Given the description of an element on the screen output the (x, y) to click on. 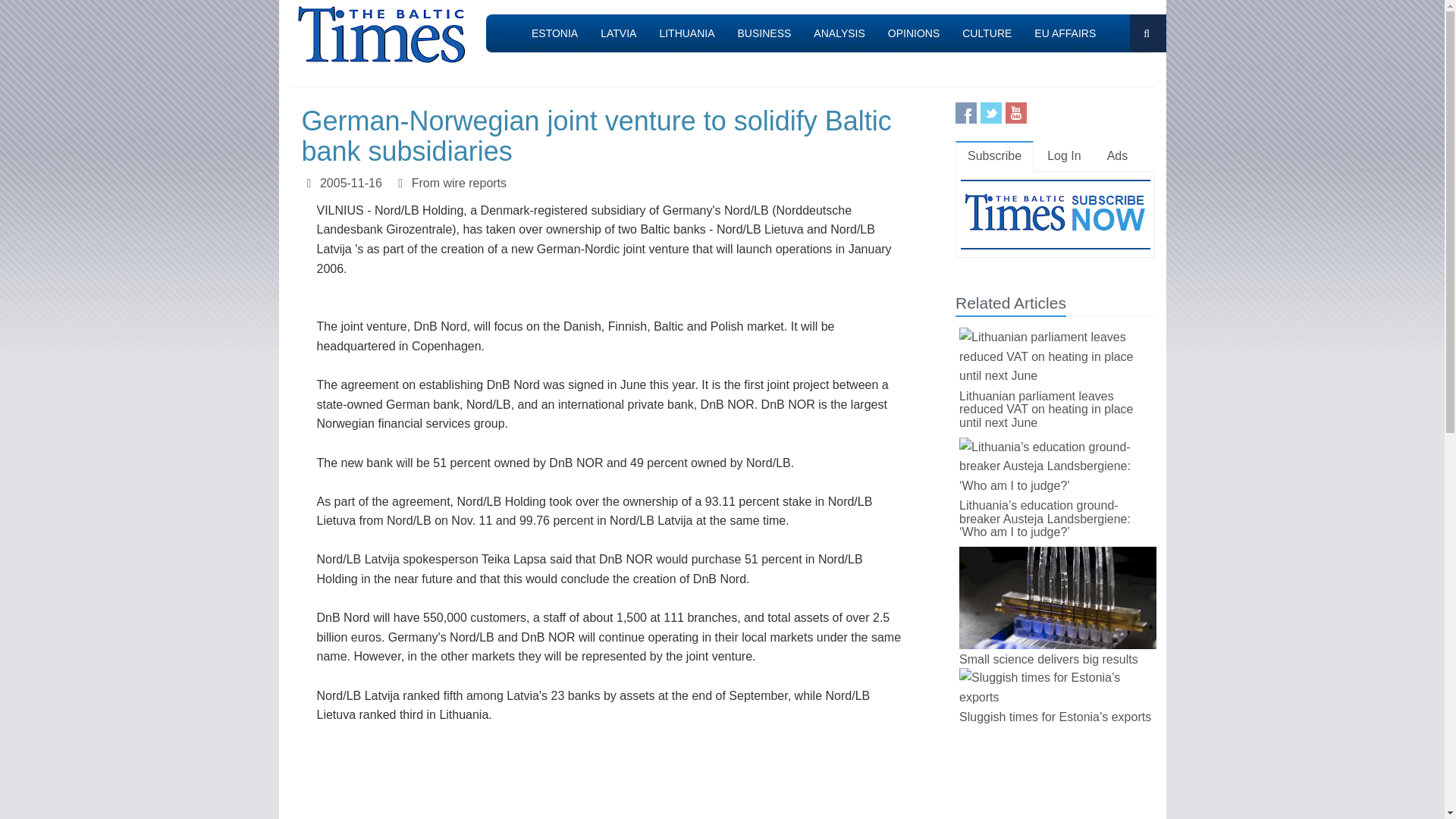
CULTURE (986, 33)
Subscribe (994, 155)
BUSINESS (764, 33)
LITHUANIA (686, 33)
LATVIA (618, 33)
ANALYSIS (839, 33)
Log In (1064, 155)
OPINIONS (913, 33)
ESTONIA (554, 33)
